Given the description of an element on the screen output the (x, y) to click on. 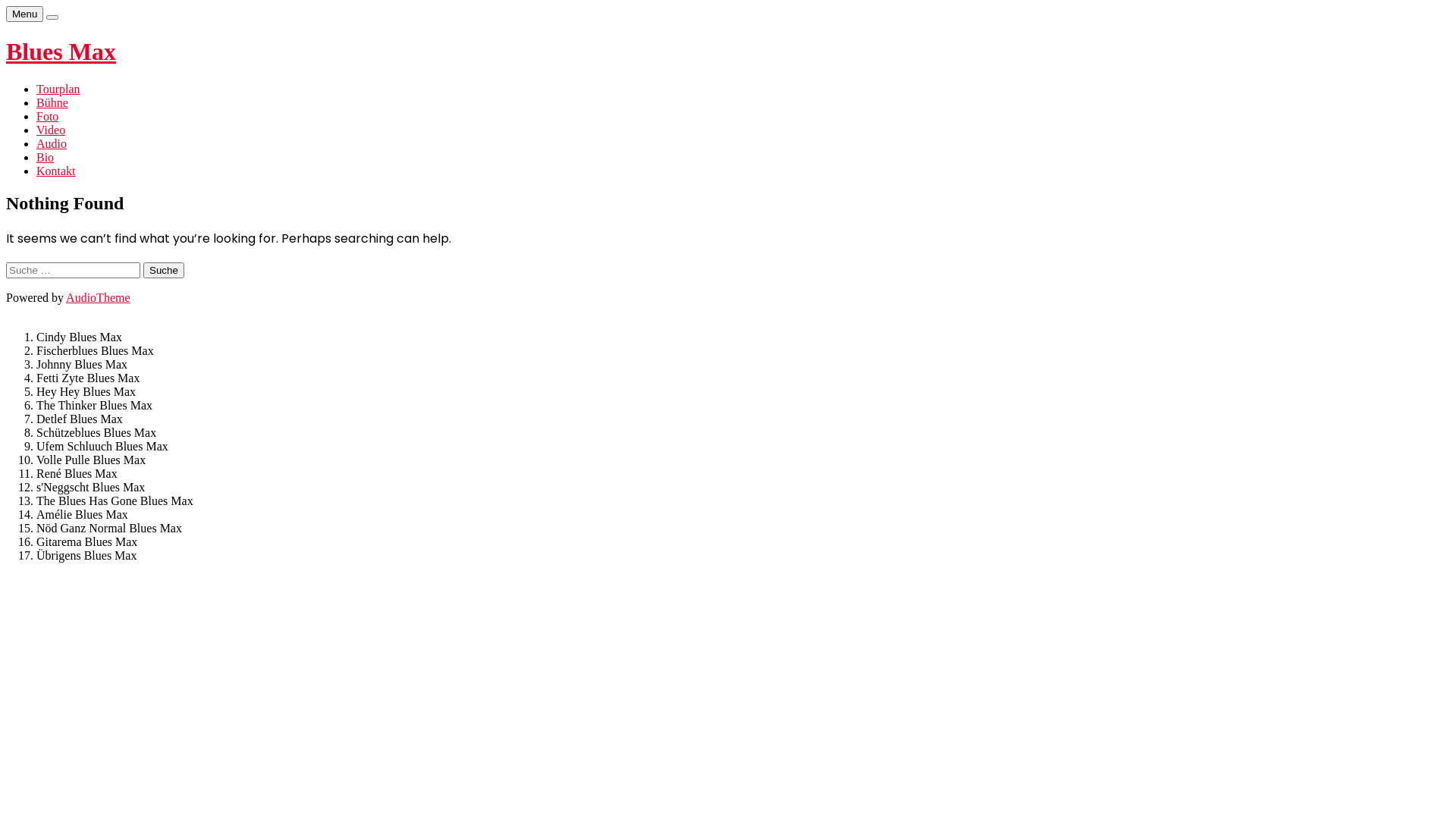
Menu Element type: text (24, 13)
Blues Max Element type: text (61, 51)
Skip to content Element type: text (5, 5)
Audio Element type: text (51, 143)
Kontakt Element type: text (55, 170)
Player Element type: text (52, 17)
Video Element type: text (50, 129)
AudioTheme Element type: text (97, 297)
Tourplan Element type: text (58, 88)
Bio Element type: text (44, 156)
Foto Element type: text (47, 115)
Suche Element type: text (163, 270)
